Given the description of an element on the screen output the (x, y) to click on. 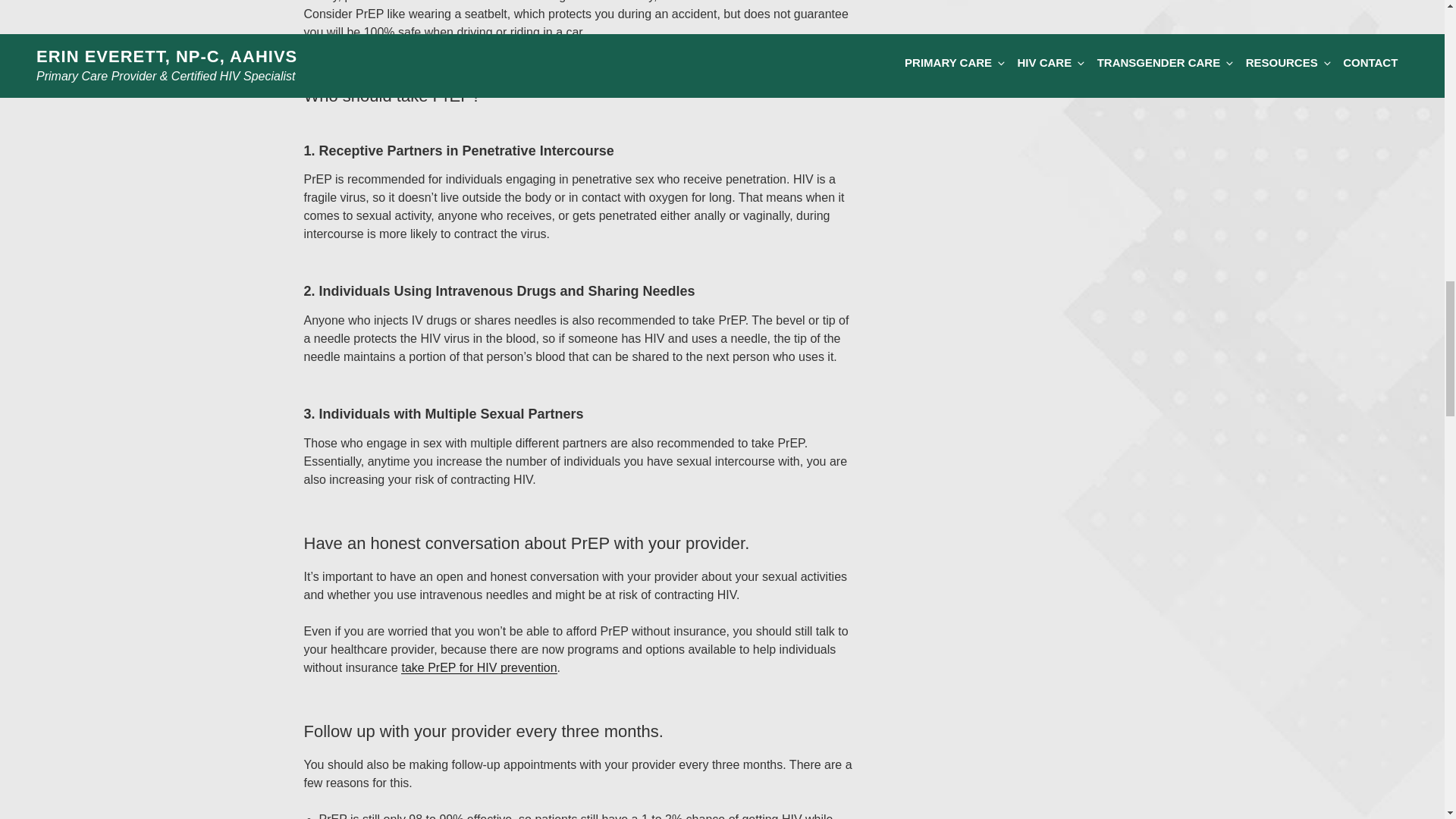
take PrEP for HIV prevention (478, 667)
